Given the description of an element on the screen output the (x, y) to click on. 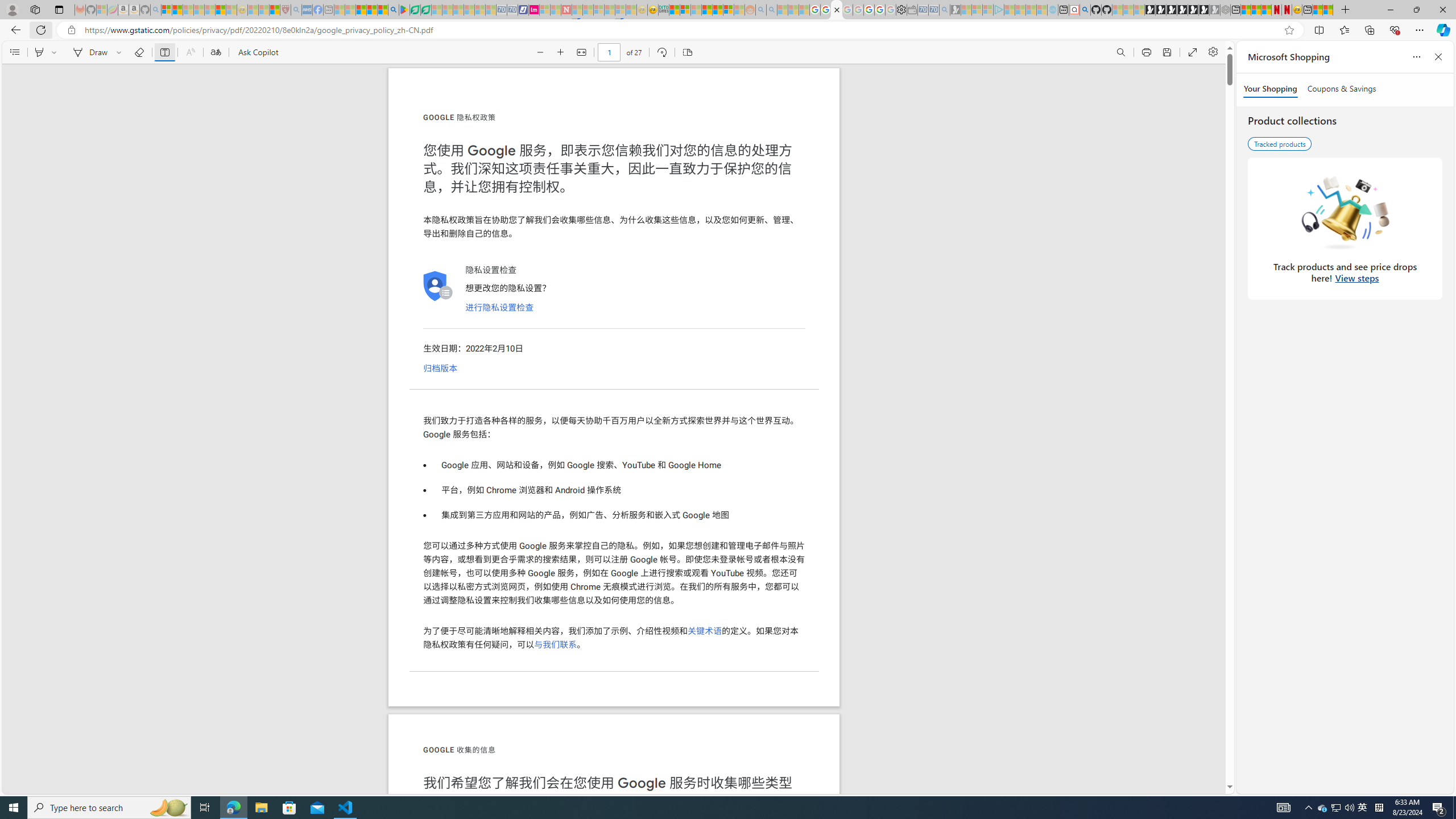
Fit to width (Ctrl+\) (581, 52)
github - Search (1084, 9)
Highlight (39, 52)
